Given the description of an element on the screen output the (x, y) to click on. 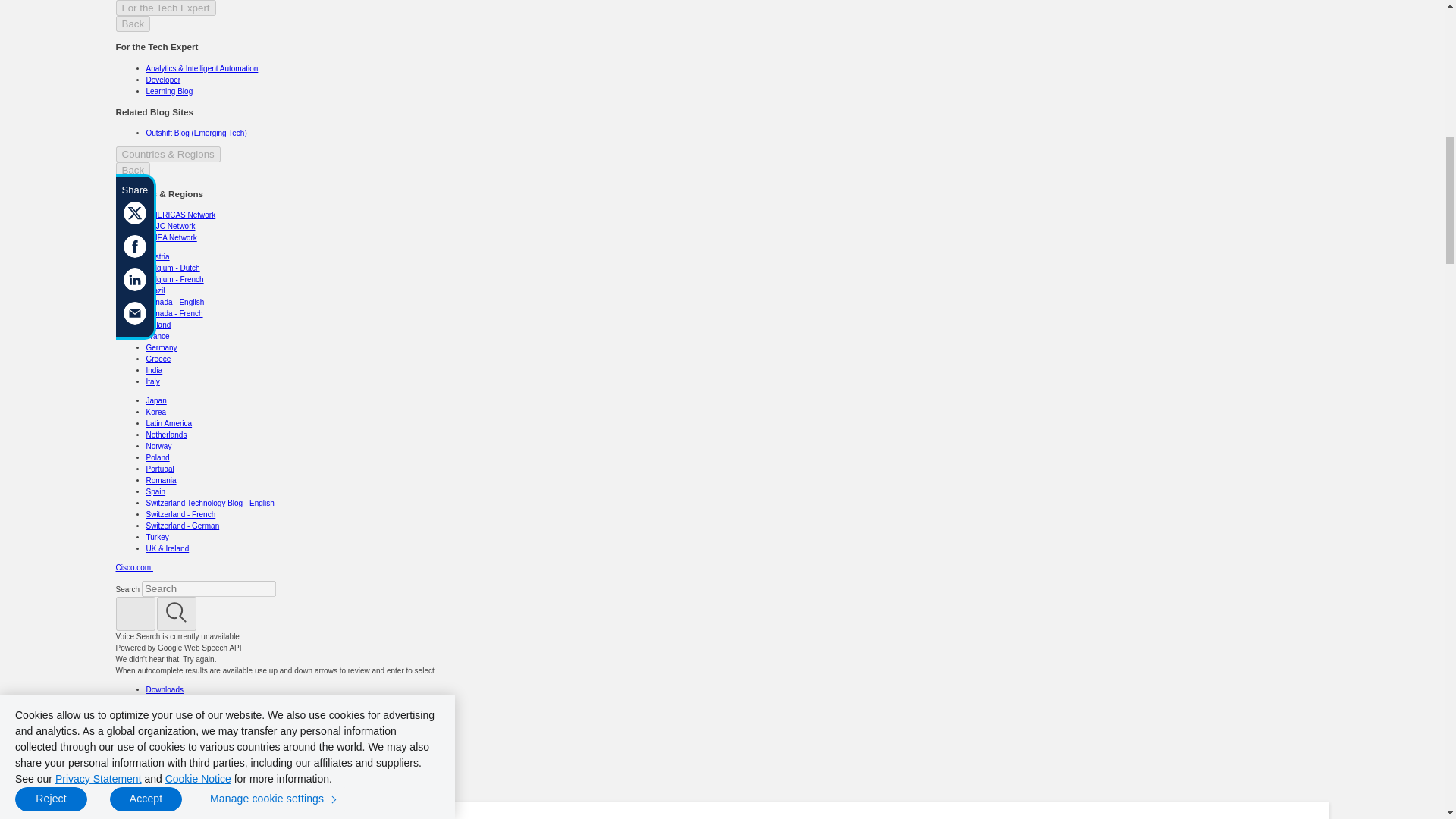
Cisco Blogs (249, 818)
